Given the description of an element on the screen output the (x, y) to click on. 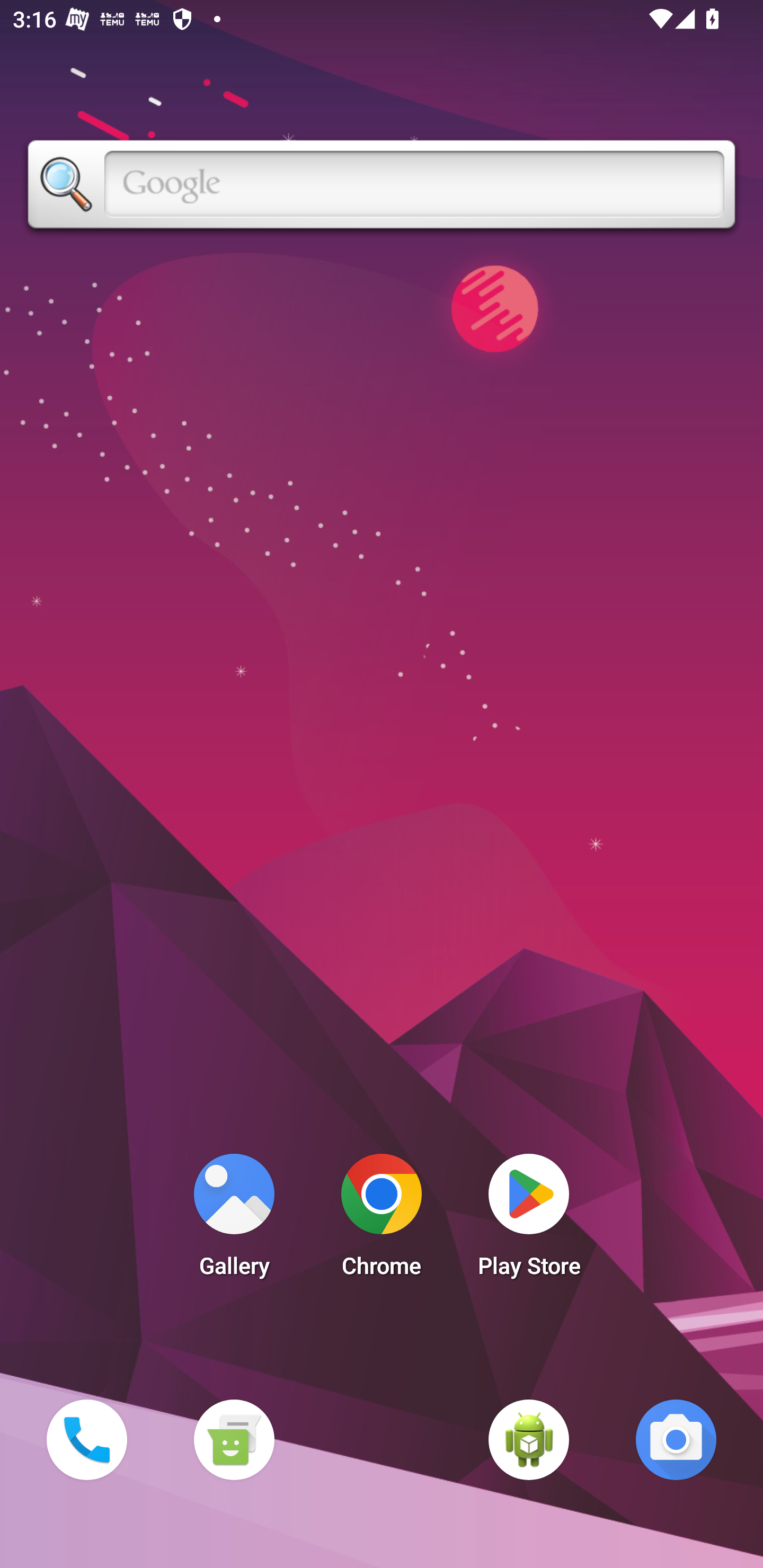
Gallery (233, 1220)
Chrome (381, 1220)
Play Store (528, 1220)
Phone (86, 1439)
Messaging (233, 1439)
WebView Browser Tester (528, 1439)
Camera (676, 1439)
